Given the description of an element on the screen output the (x, y) to click on. 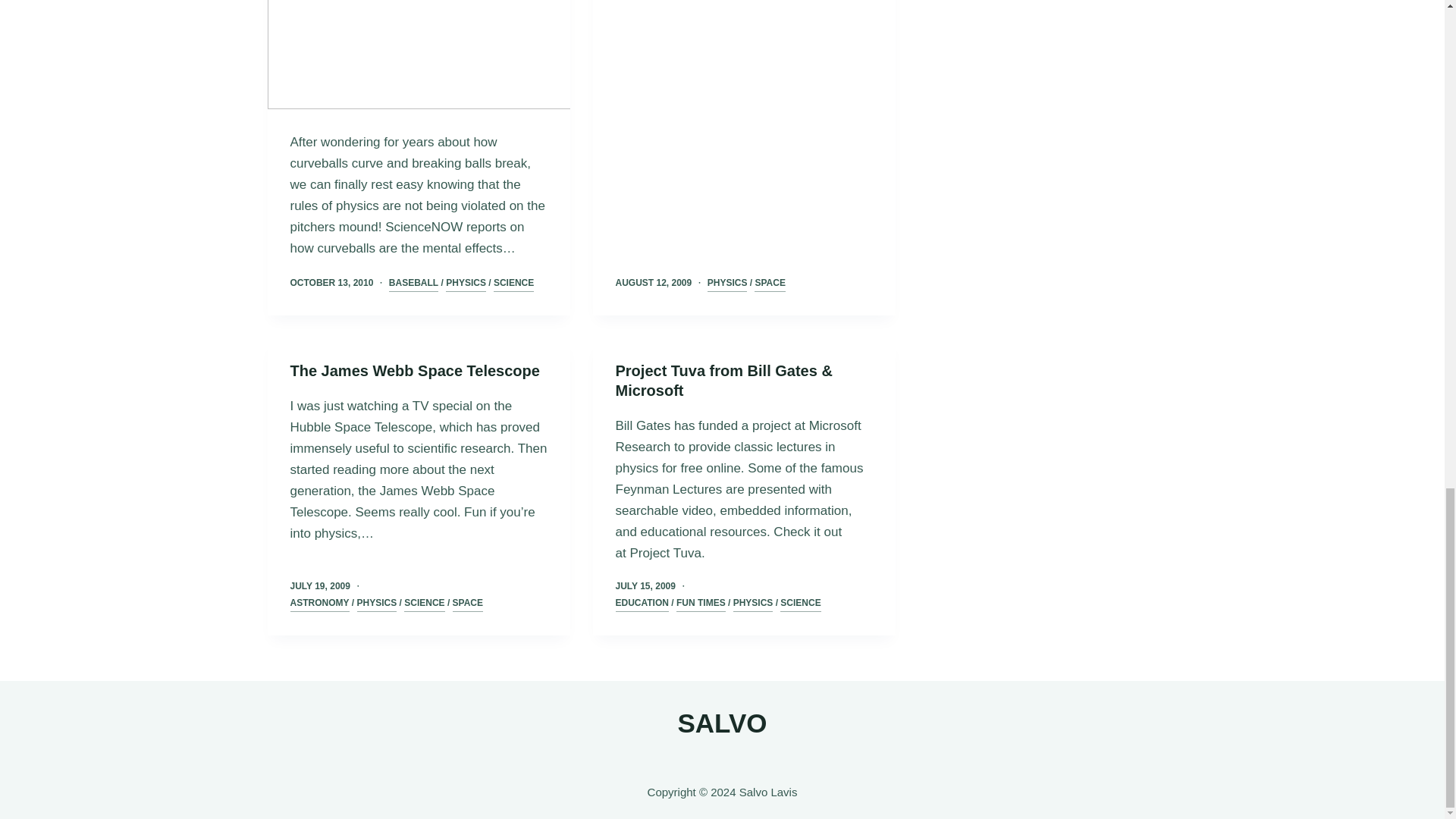
PHYSICS (465, 283)
BASEBALL (413, 283)
SCIENCE (513, 283)
